Given the description of an element on the screen output the (x, y) to click on. 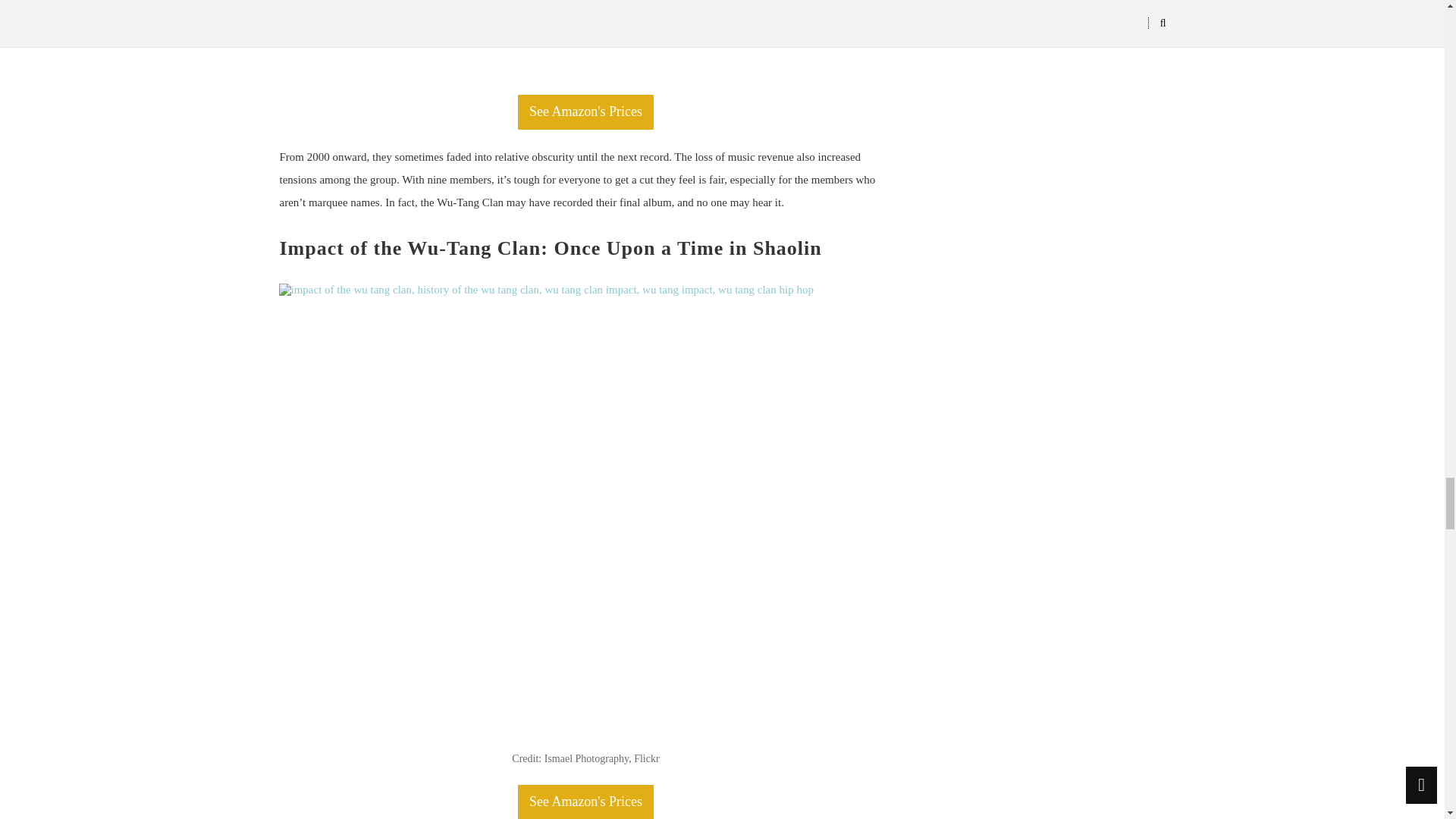
See Amazon's Prices (585, 112)
See Amazon's Prices (585, 801)
